Given the description of an element on the screen output the (x, y) to click on. 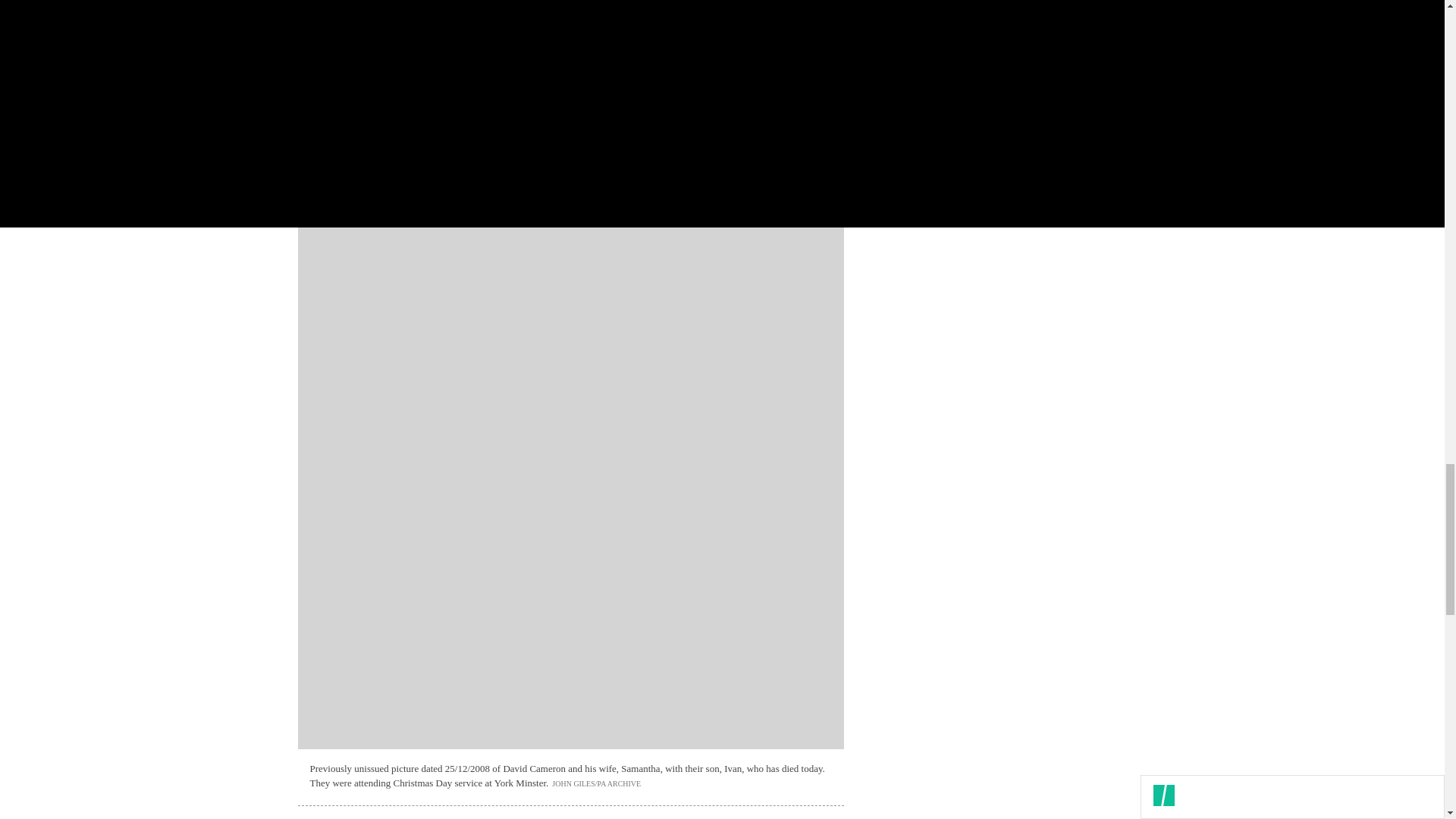
SIGN UP (1098, 125)
